Given the description of an element on the screen output the (x, y) to click on. 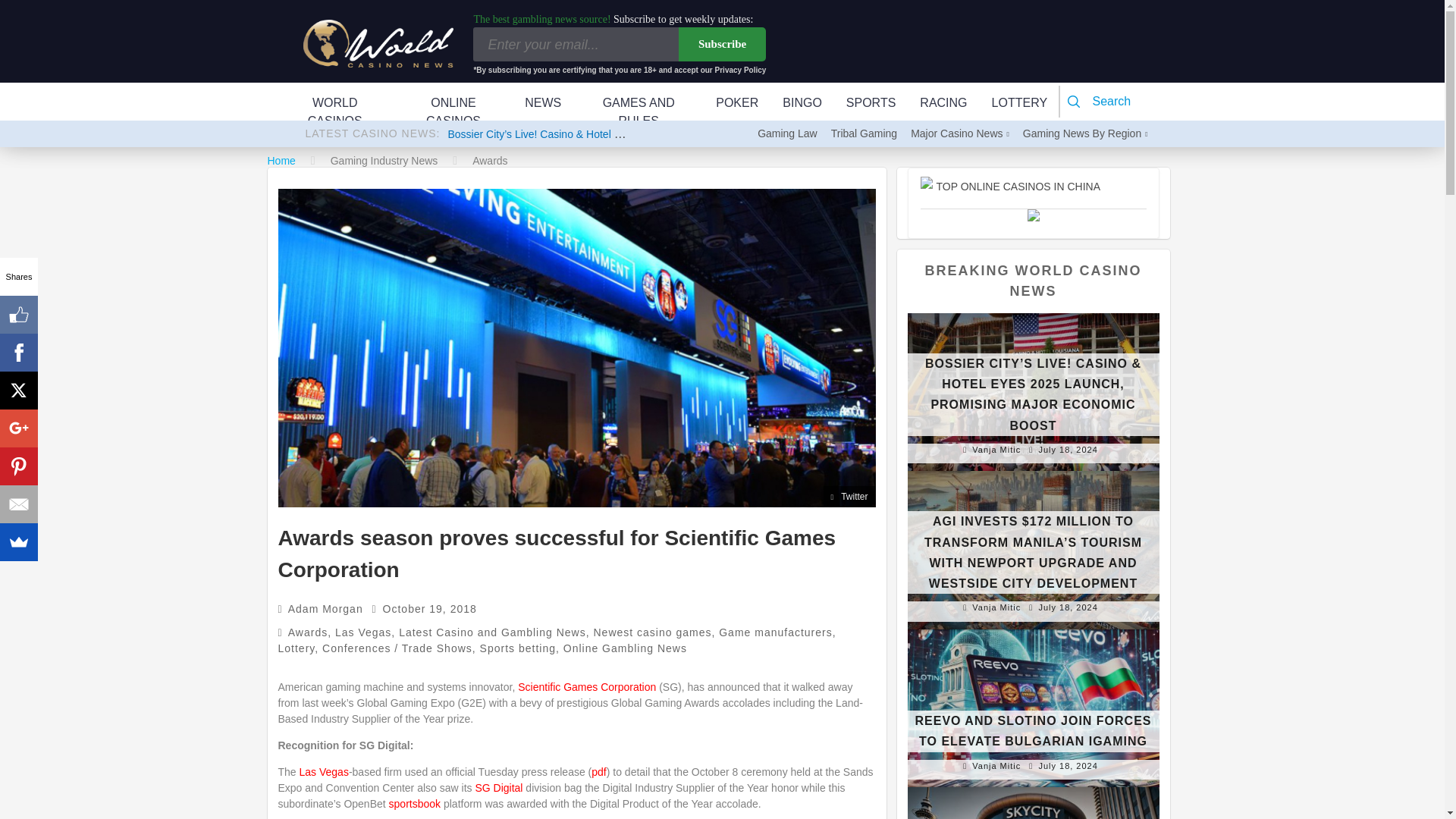
Subscribe (722, 44)
View all posts in Awards (488, 160)
View all posts in Gaming Industry News (384, 160)
View all posts in Awards (307, 632)
View all posts in Las Vegas (362, 632)
View all posts in Latest Casino and Gambling News (492, 632)
